Given the description of an element on the screen output the (x, y) to click on. 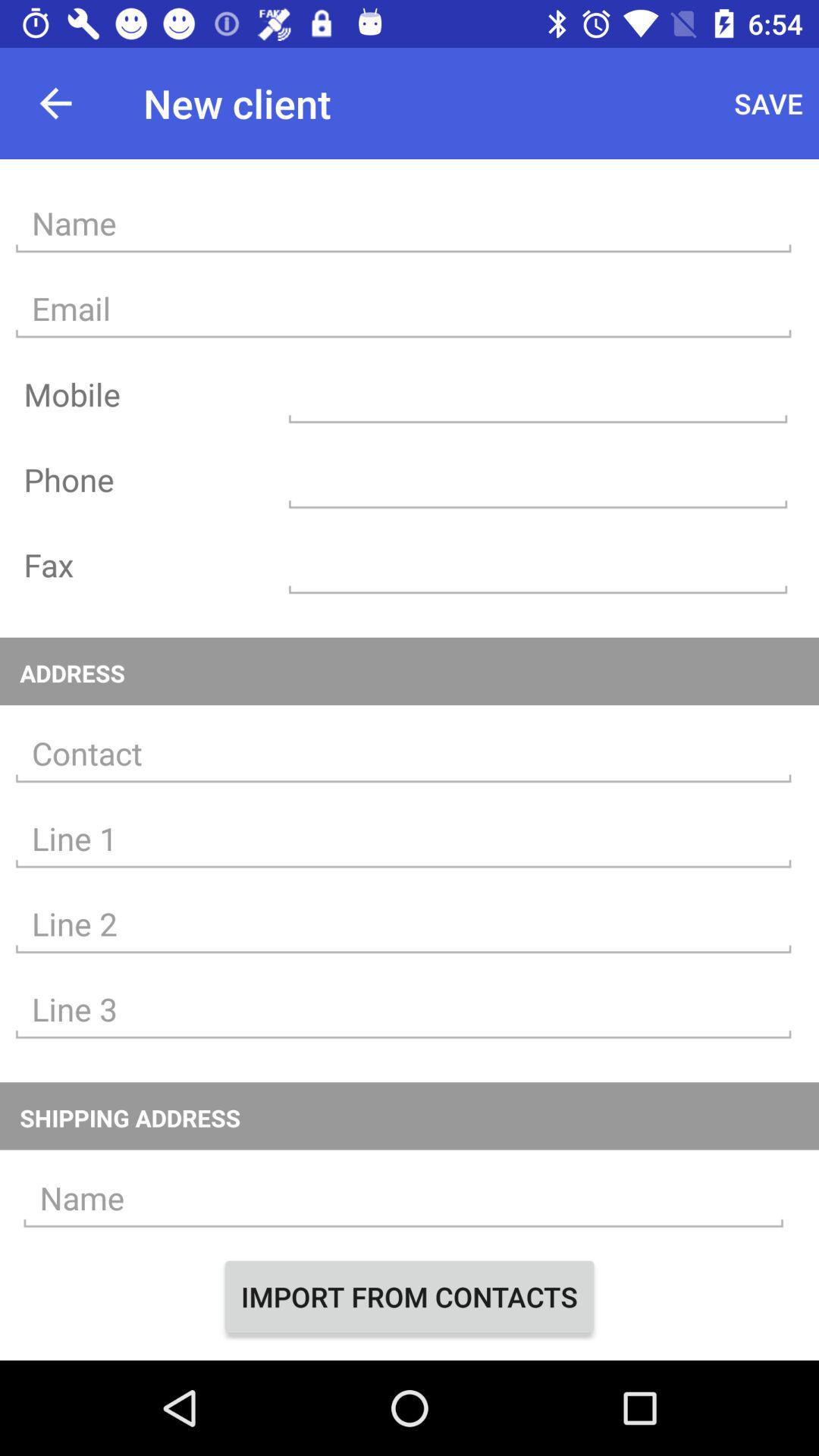
enter fax (537, 564)
